Given the description of an element on the screen output the (x, y) to click on. 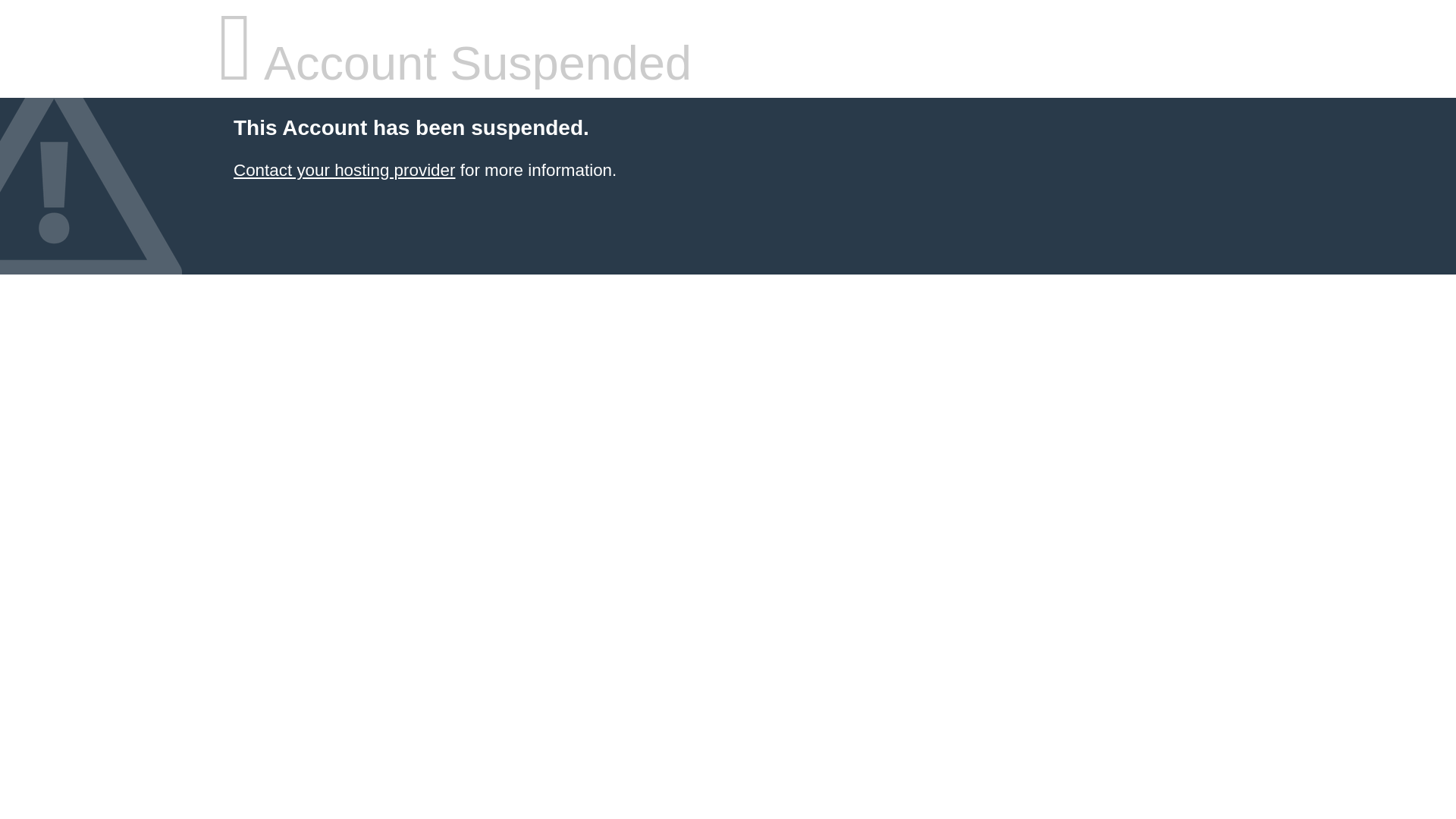
Contact your hosting provider (343, 169)
